Given the description of an element on the screen output the (x, y) to click on. 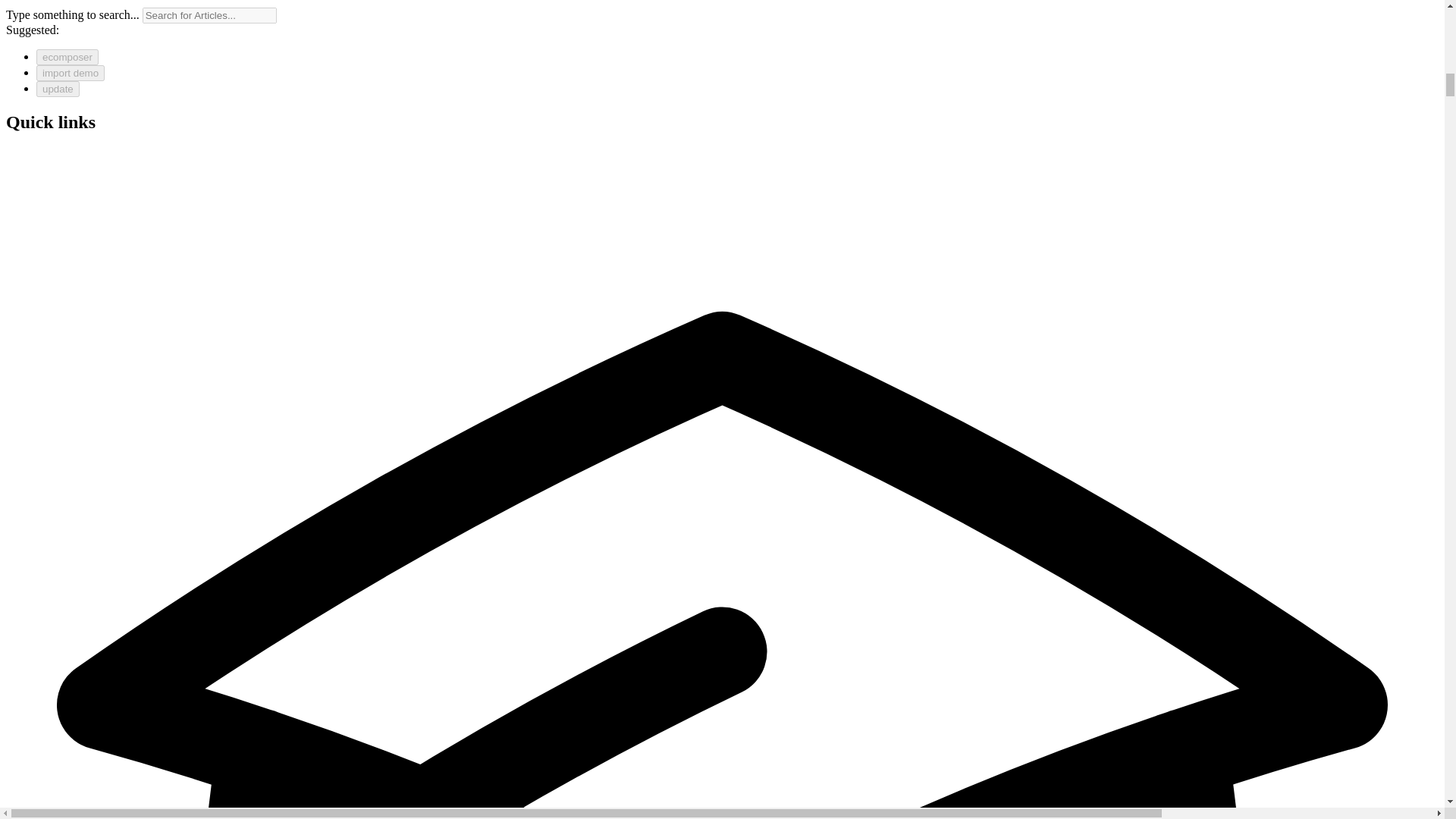
import demo (70, 73)
update (58, 89)
ecomposer (67, 57)
